Given the description of an element on the screen output the (x, y) to click on. 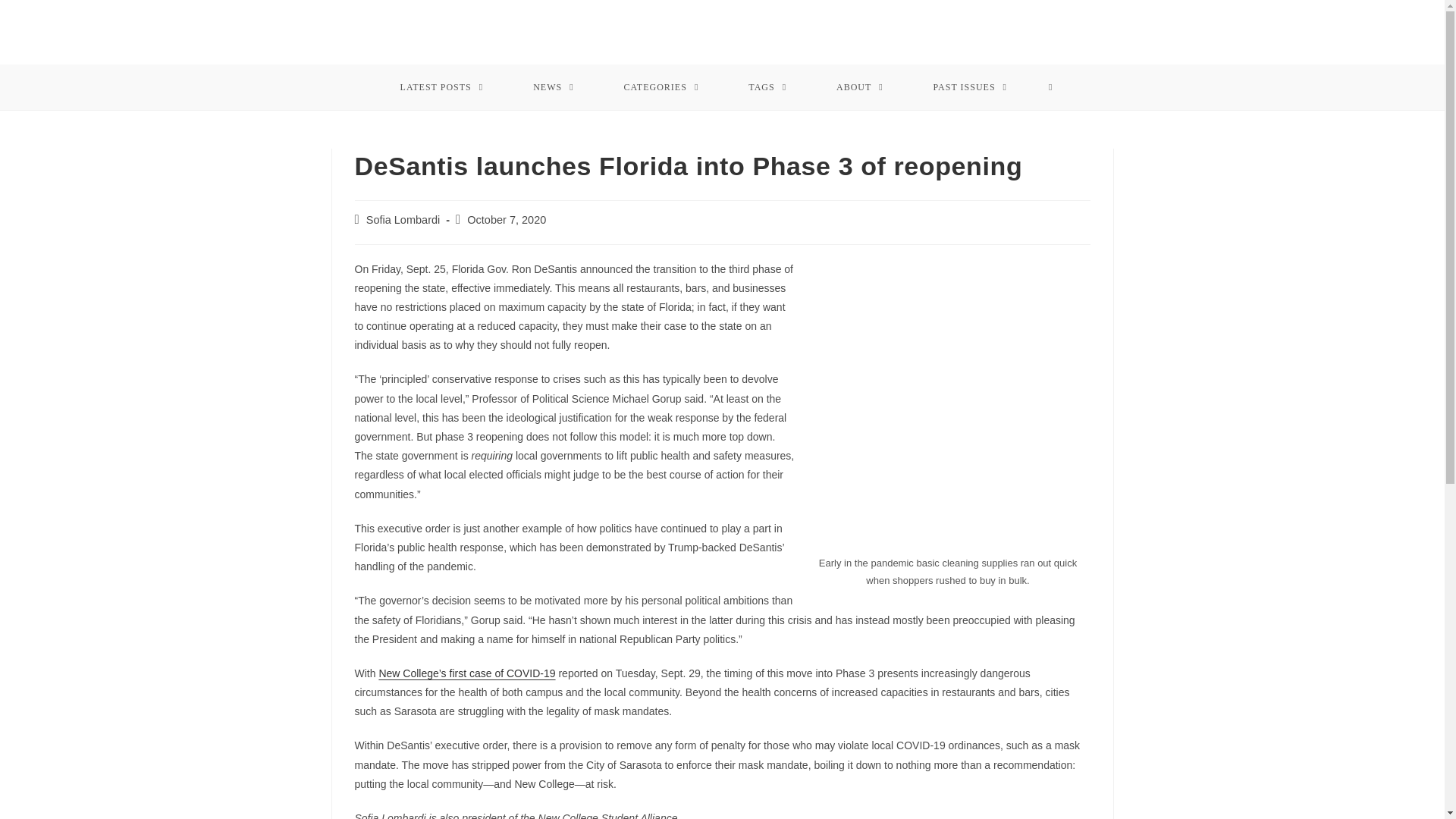
NEWS (553, 86)
LATEST POSTS (441, 86)
Sofia Lombardi (403, 219)
ABOUT (859, 86)
CATEGORIES (660, 86)
TAGS (766, 86)
PAST ISSUES (970, 86)
Posts by Sofia Lombardi (403, 219)
